Given the description of an element on the screen output the (x, y) to click on. 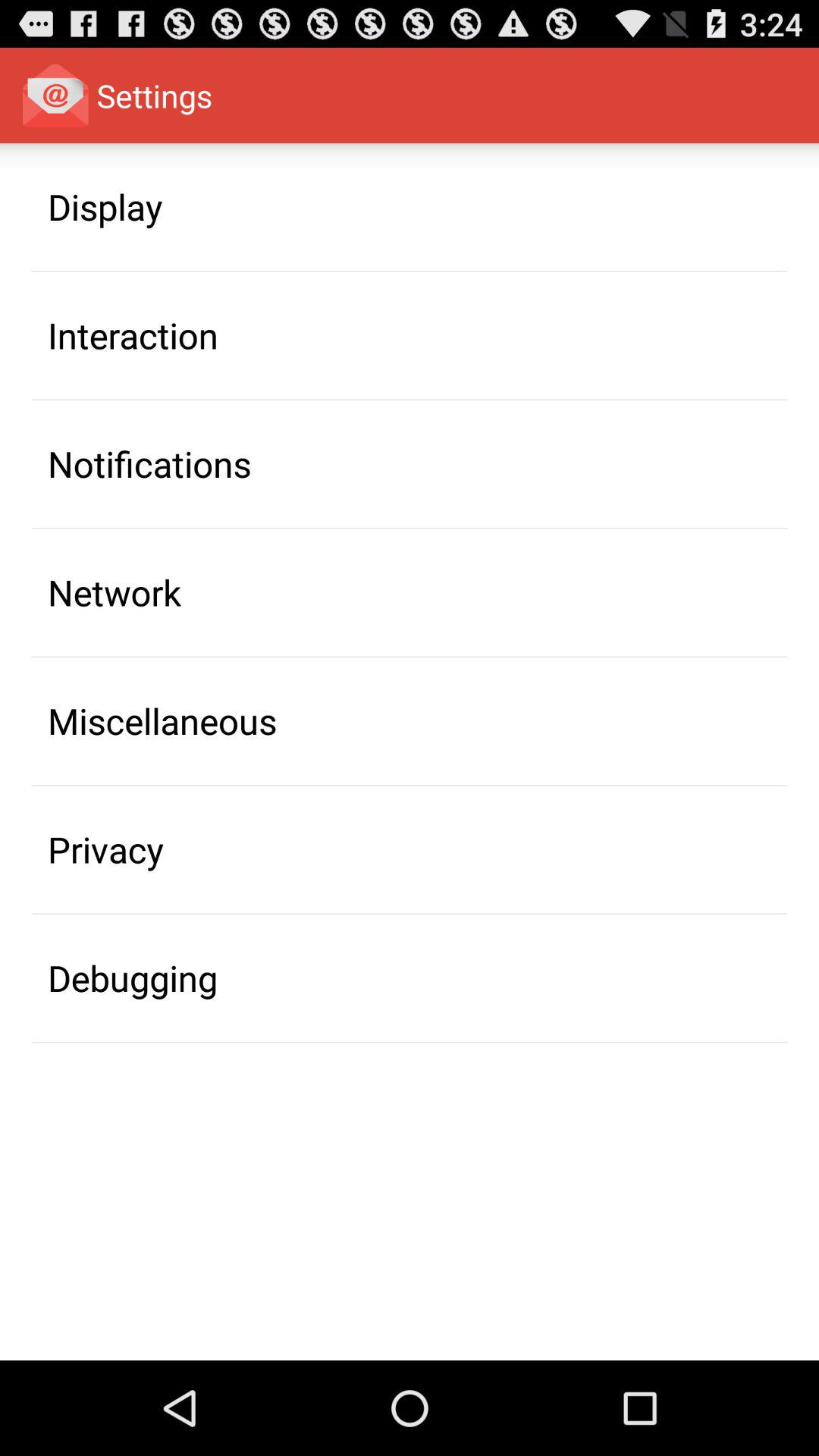
press debugging at the bottom left corner (132, 977)
